Given the description of an element on the screen output the (x, y) to click on. 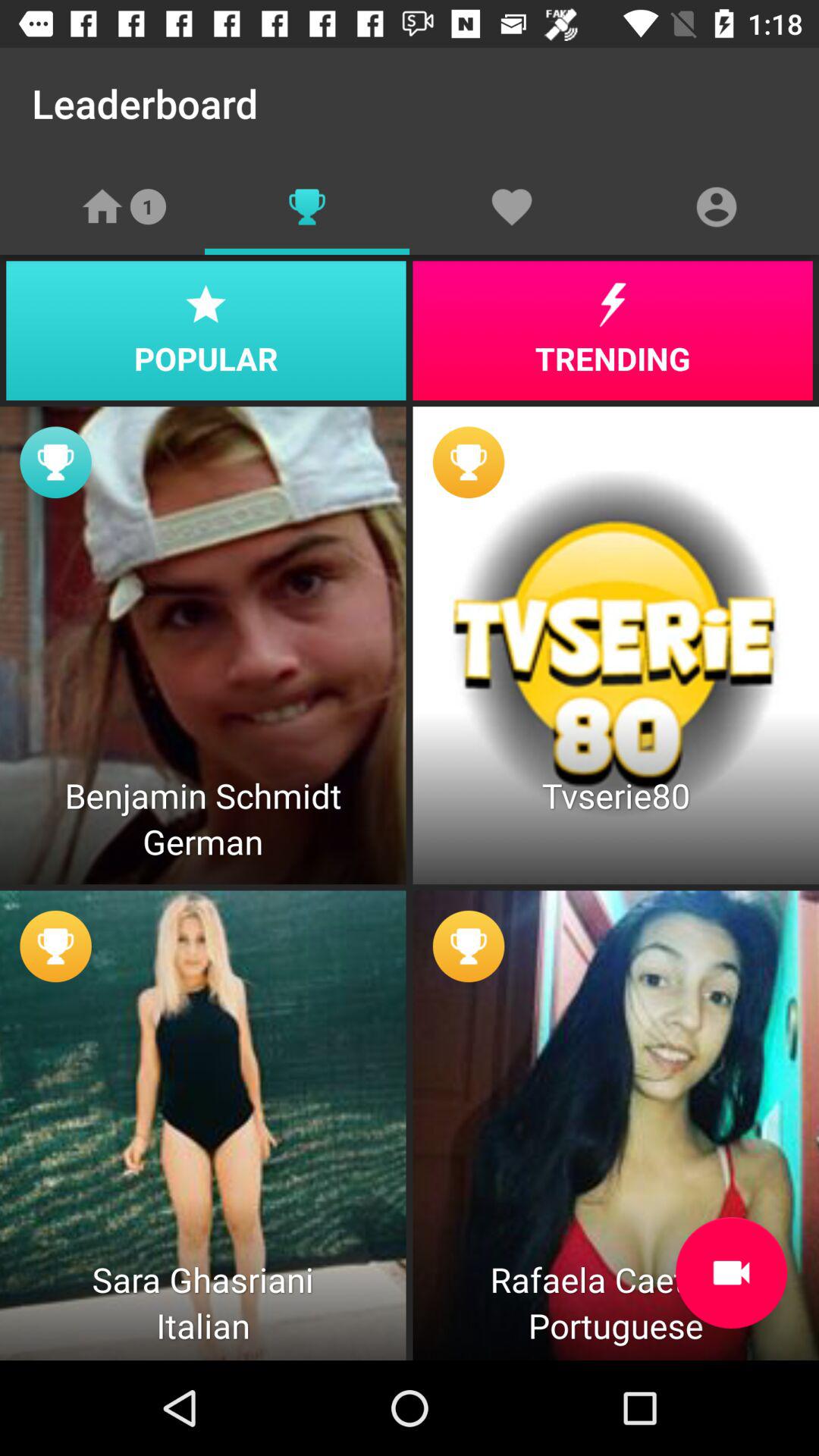
see video (731, 1272)
